Given the description of an element on the screen output the (x, y) to click on. 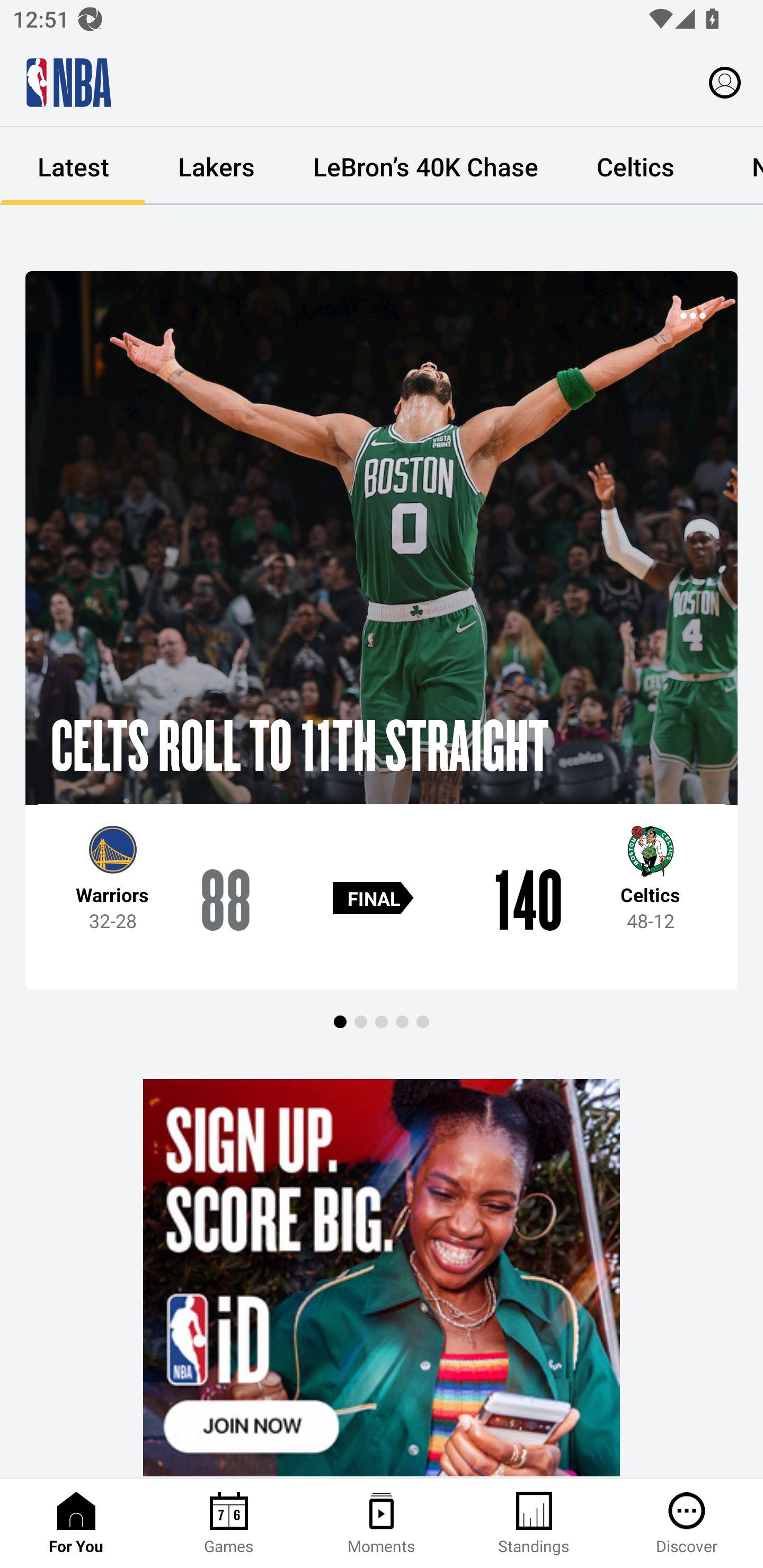
Profile (724, 81)
Lakers (215, 166)
LeBron’s 40K Chase (425, 166)
Celtics (634, 166)
Games (228, 1523)
Moments (381, 1523)
Standings (533, 1523)
Discover (686, 1523)
